Given the description of an element on the screen output the (x, y) to click on. 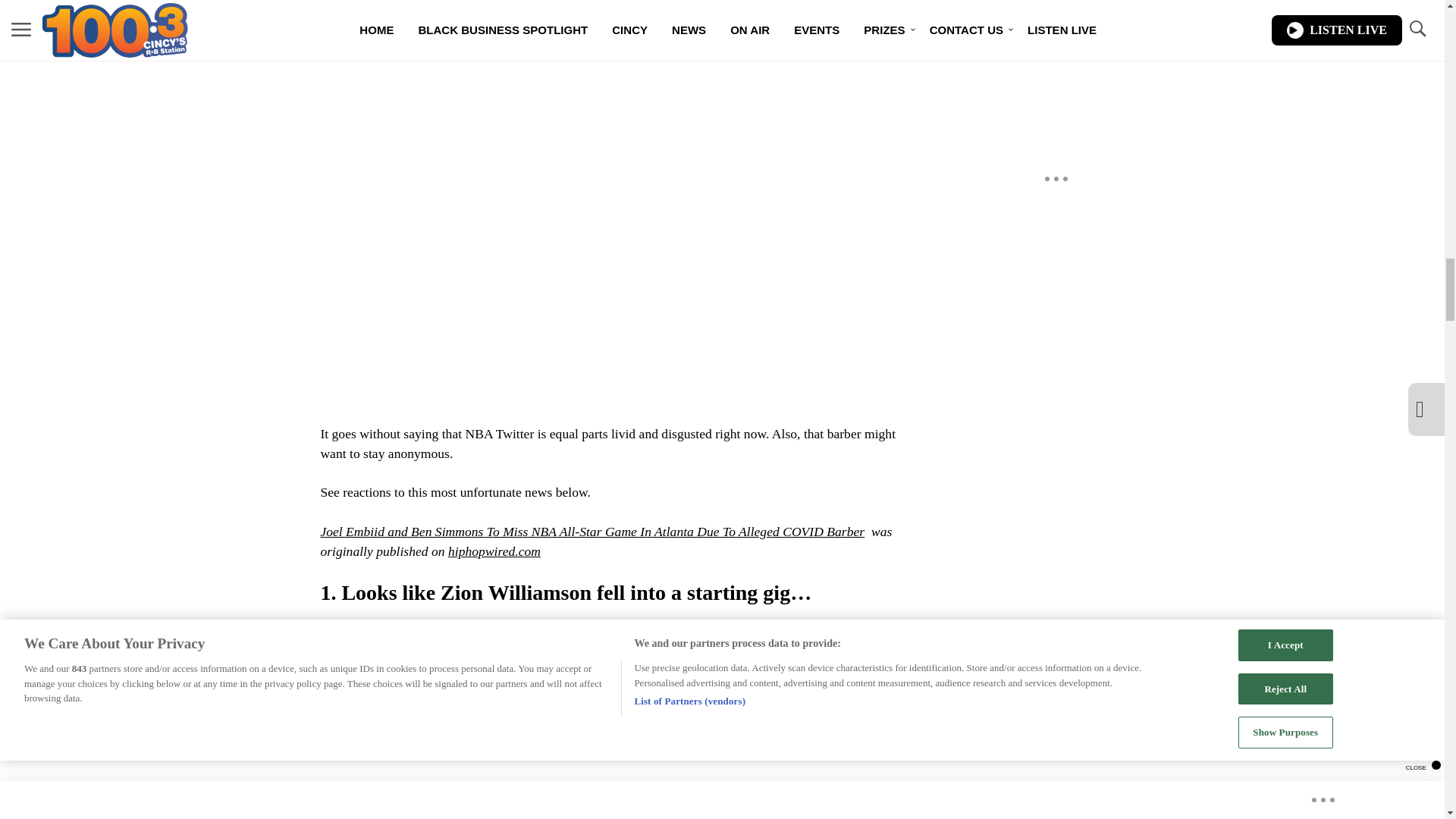
hiphopwired.com (494, 550)
